Given the description of an element on the screen output the (x, y) to click on. 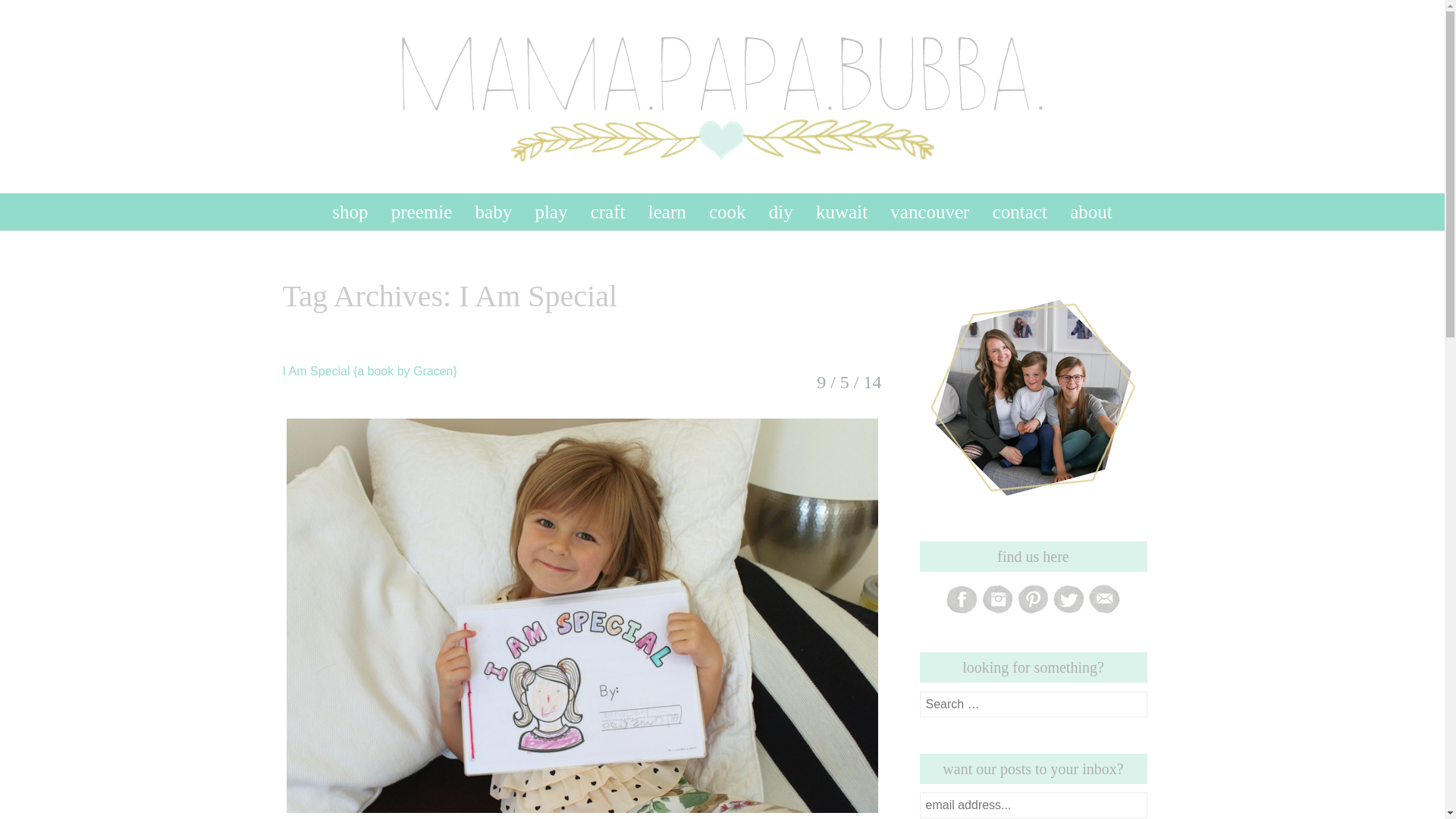
about (1091, 211)
Search (25, 14)
cook (727, 211)
skip to content (275, 201)
shop (350, 211)
play (550, 211)
preemie (421, 211)
learn (667, 211)
vancouver (929, 211)
craft (607, 211)
contact (1020, 211)
baby (493, 211)
kuwait (841, 211)
diy (781, 211)
